Given the description of an element on the screen output the (x, y) to click on. 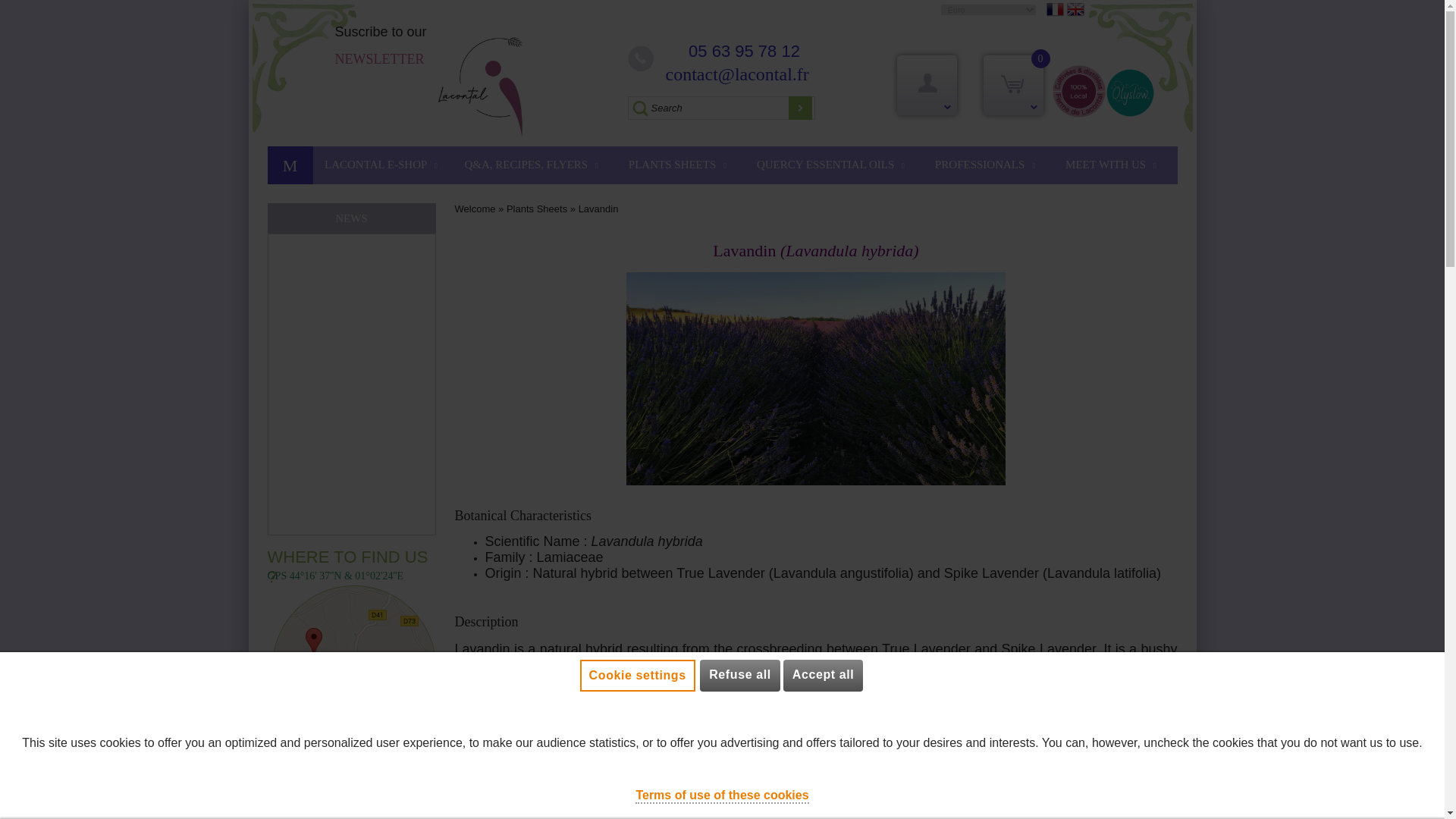
 GO  (800, 107)
NEWSLETTER (379, 58)
Cookie settings (637, 675)
Talk - ask your questions to webmaster (1408, 804)
Search (721, 107)
LACONTAL E-SHOP (380, 165)
